Given the description of an element on the screen output the (x, y) to click on. 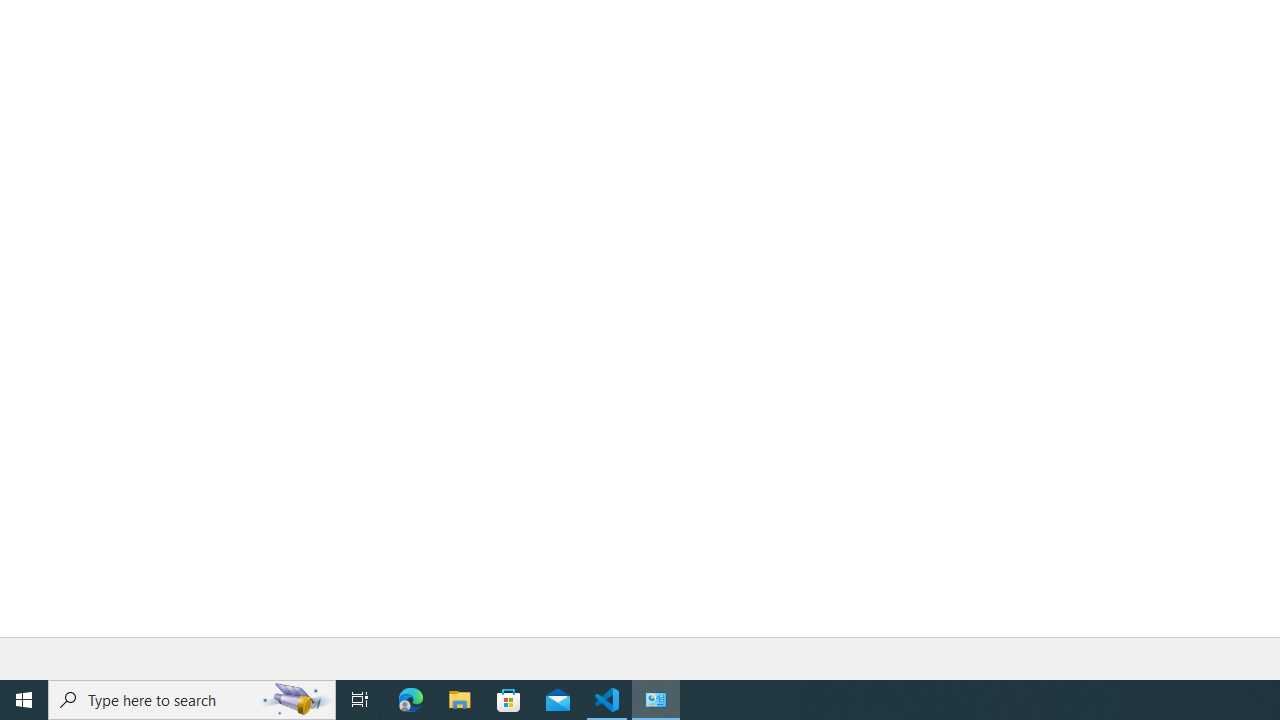
Control Panel - 1 running window (656, 699)
